Given the description of an element on the screen output the (x, y) to click on. 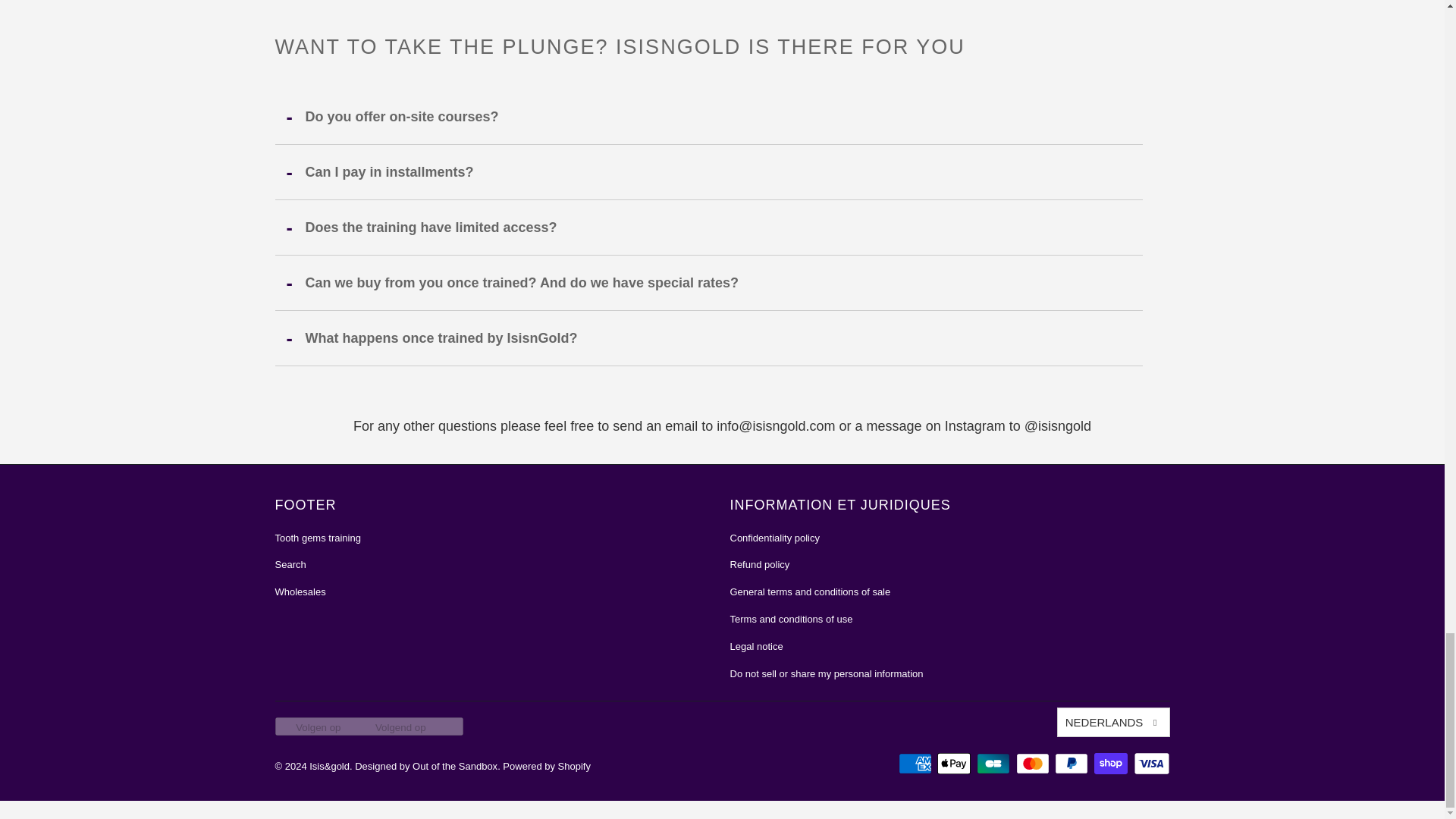
Cartes Bancaires (994, 763)
Visa (1150, 763)
American Express (916, 763)
Turbo Shopify Theme by Out of the Sandbox (426, 766)
Shop Pay (1112, 763)
Apple Pay (955, 763)
PayPal (1072, 763)
Mastercard (1034, 763)
